Given the description of an element on the screen output the (x, y) to click on. 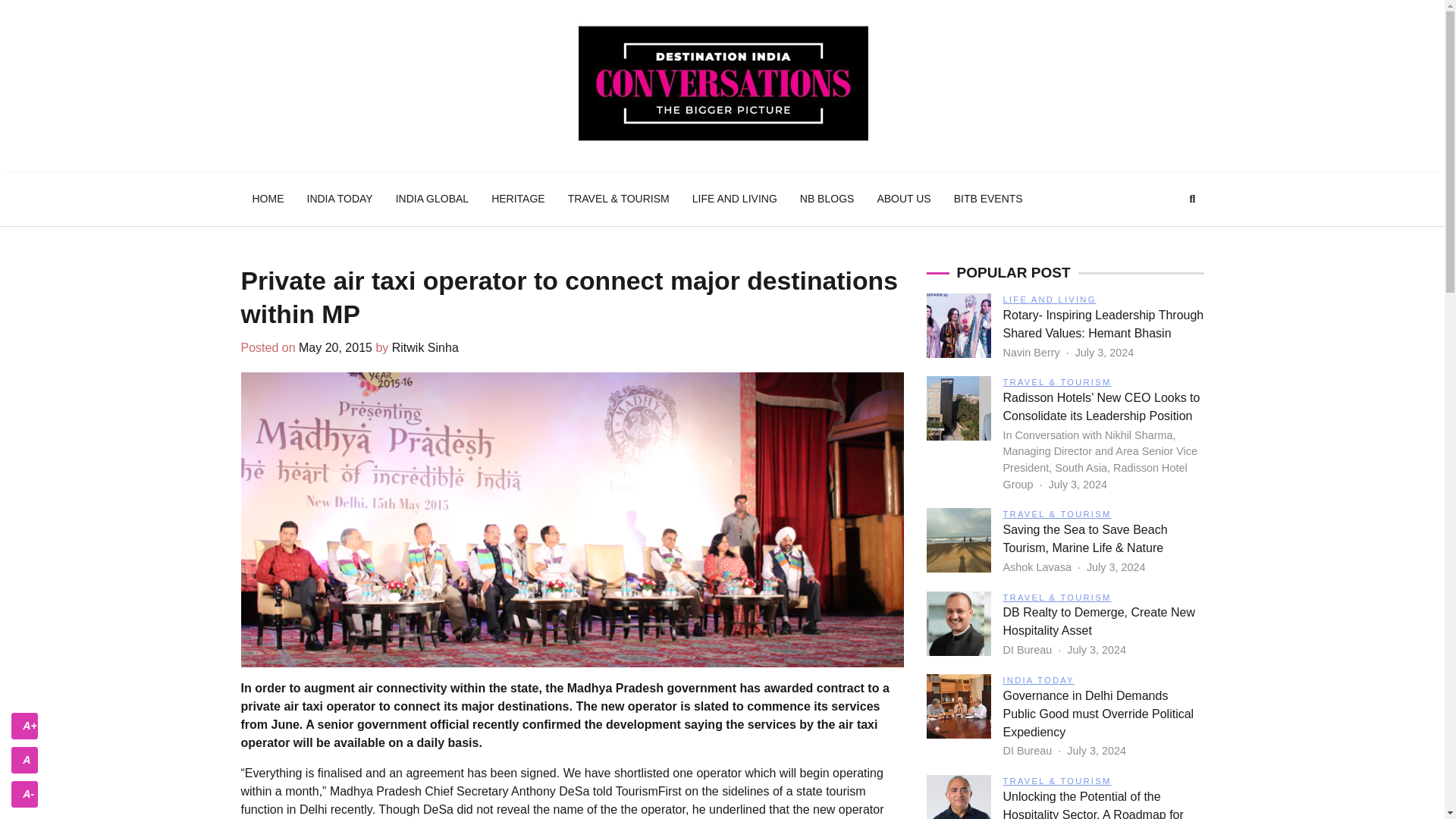
HOME (268, 198)
May 20, 2015 (335, 347)
LIFE AND LIVING (1049, 298)
INDIA GLOBAL (432, 198)
LIFE AND LIVING (735, 198)
Search (1164, 234)
Navin Berry (1032, 352)
NB BLOGS (827, 198)
July 3, 2024 (1104, 352)
Search (1192, 199)
ABOUT US (903, 198)
BITB EVENTS (987, 198)
Ritwik Sinha (424, 347)
HERITAGE (518, 198)
